Given the description of an element on the screen output the (x, y) to click on. 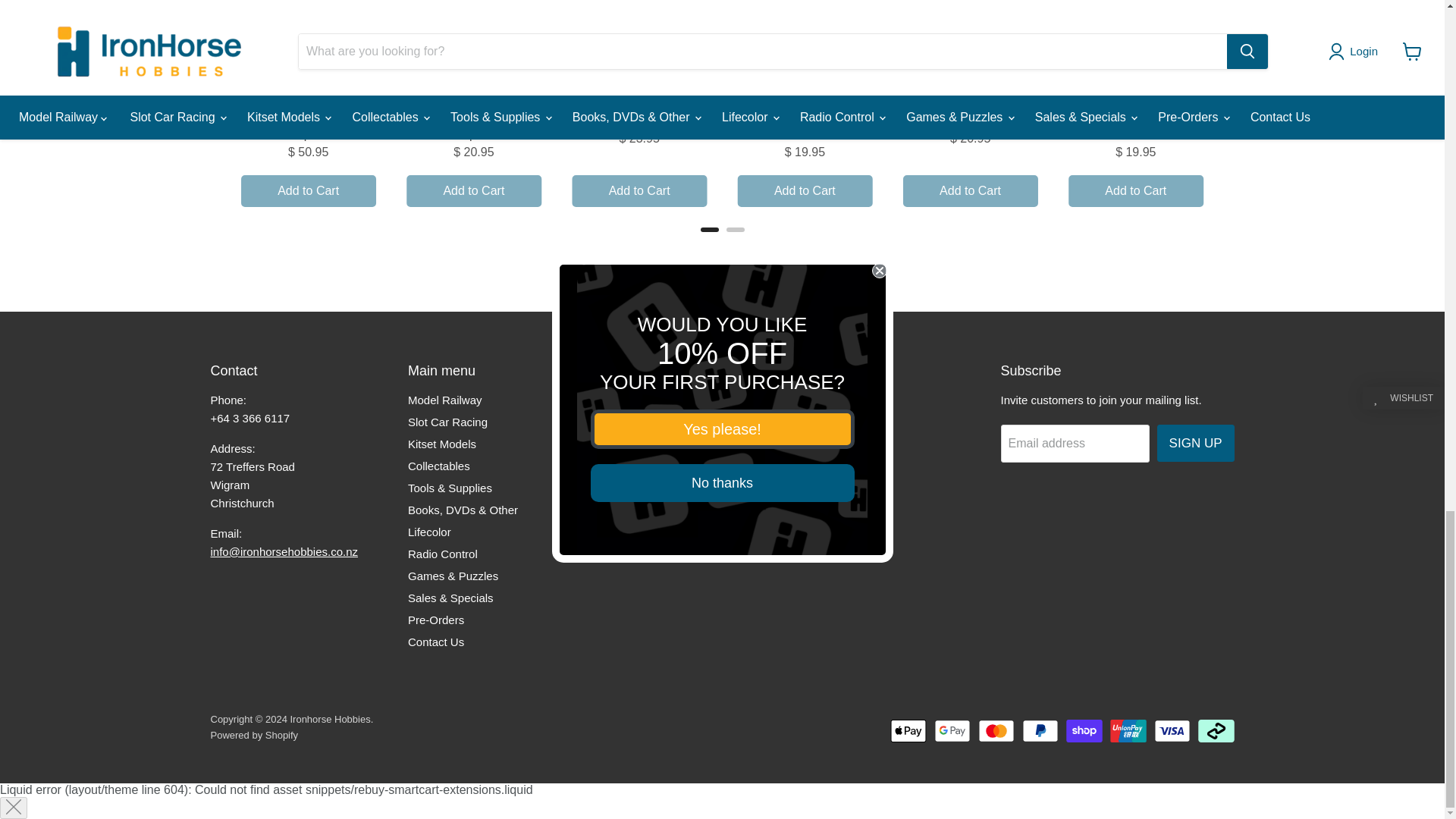
Instagram (840, 401)
Facebook (813, 401)
